Given the description of an element on the screen output the (x, y) to click on. 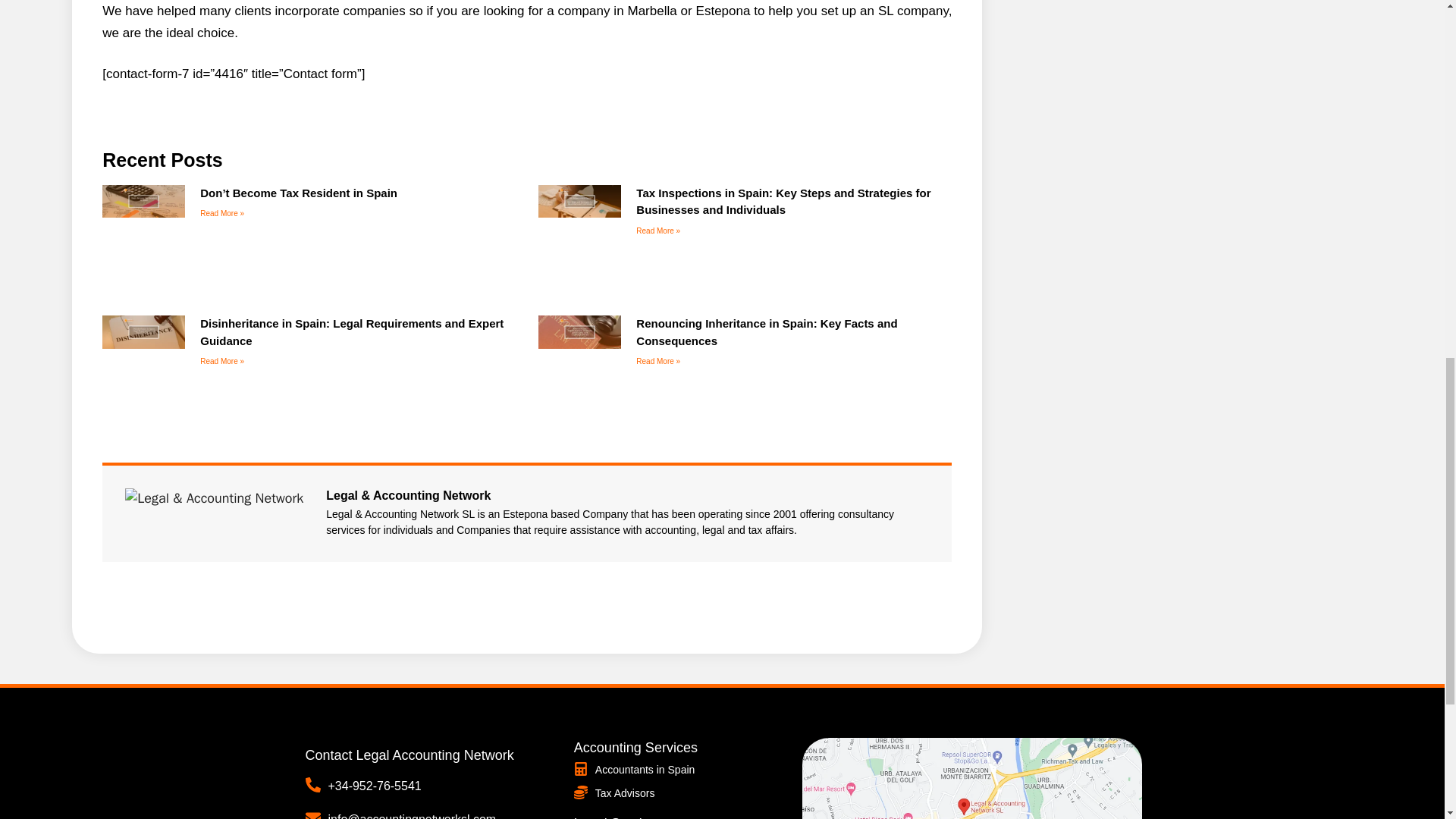
Renouncing Inheritance in Spain: Key Facts and Consequences (766, 331)
